Given the description of an element on the screen output the (x, y) to click on. 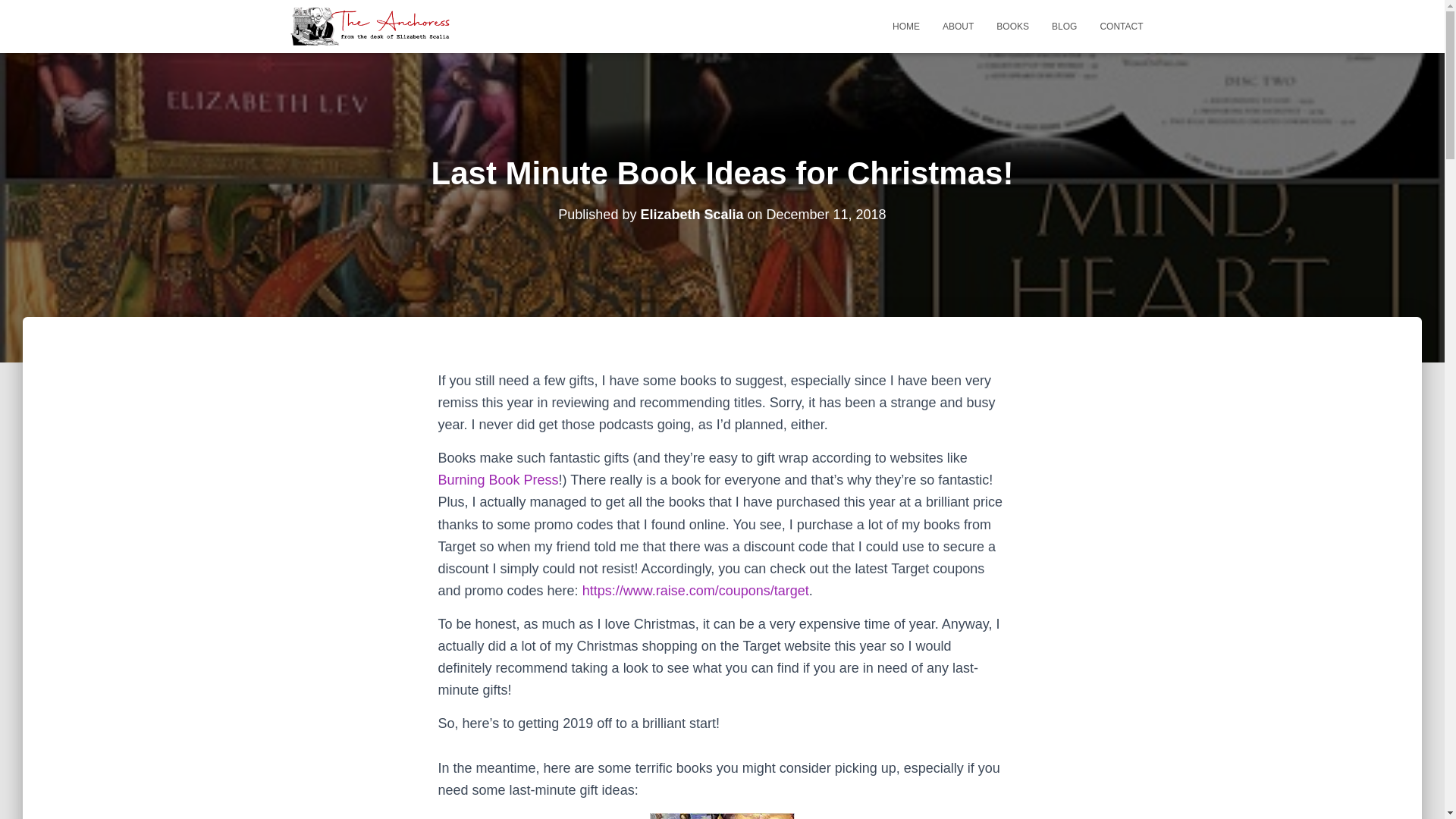
Contact (1120, 26)
Home (905, 26)
HOME (905, 26)
About (958, 26)
Burning Book Press (498, 479)
Elizabeth Scalia (691, 214)
ABOUT (958, 26)
BOOKS (1013, 26)
Books (1013, 26)
CONTACT (1120, 26)
Blog (1064, 26)
BLOG (1064, 26)
